Given the description of an element on the screen output the (x, y) to click on. 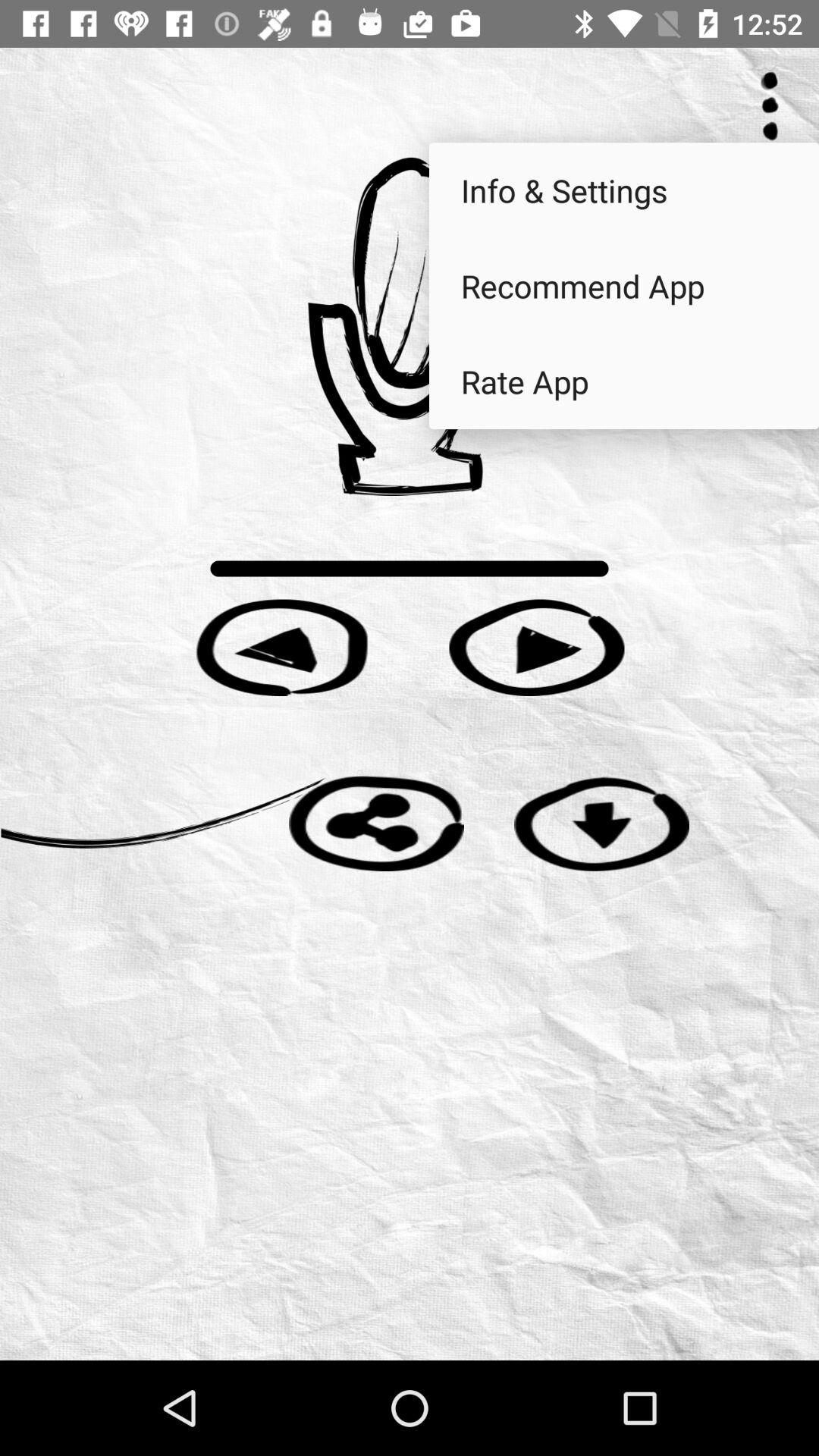
start recording (409, 326)
